Given the description of an element on the screen output the (x, y) to click on. 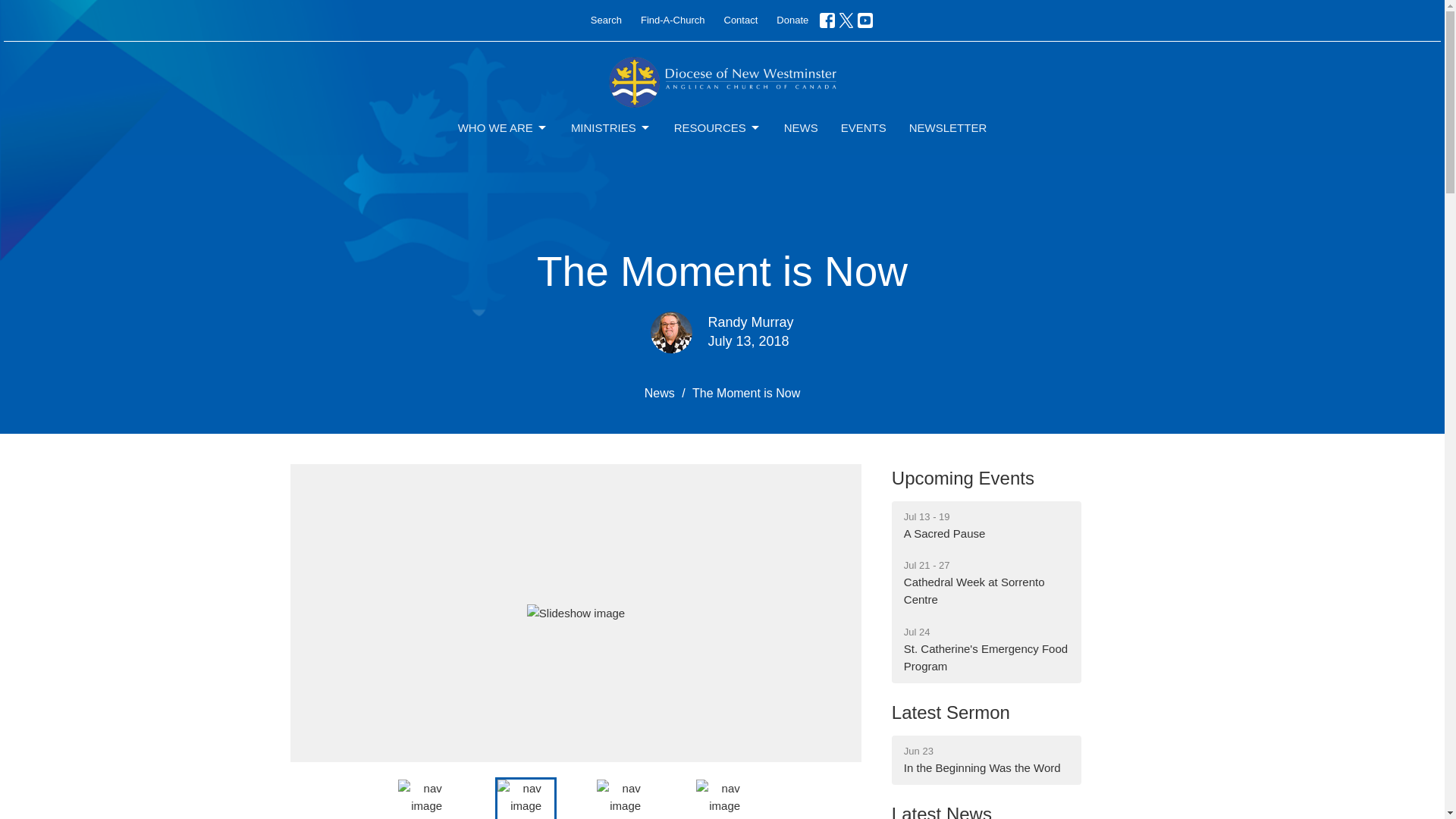
Search (605, 20)
Donate (791, 20)
RESOURCES (717, 127)
News (660, 392)
Find-A-Church (673, 20)
MINISTRIES (610, 127)
WHO WE ARE (503, 127)
EVENTS (863, 127)
NEWSLETTER (986, 525)
Contact (947, 127)
Upcoming Events (740, 20)
NEWS (962, 477)
